Given the description of an element on the screen output the (x, y) to click on. 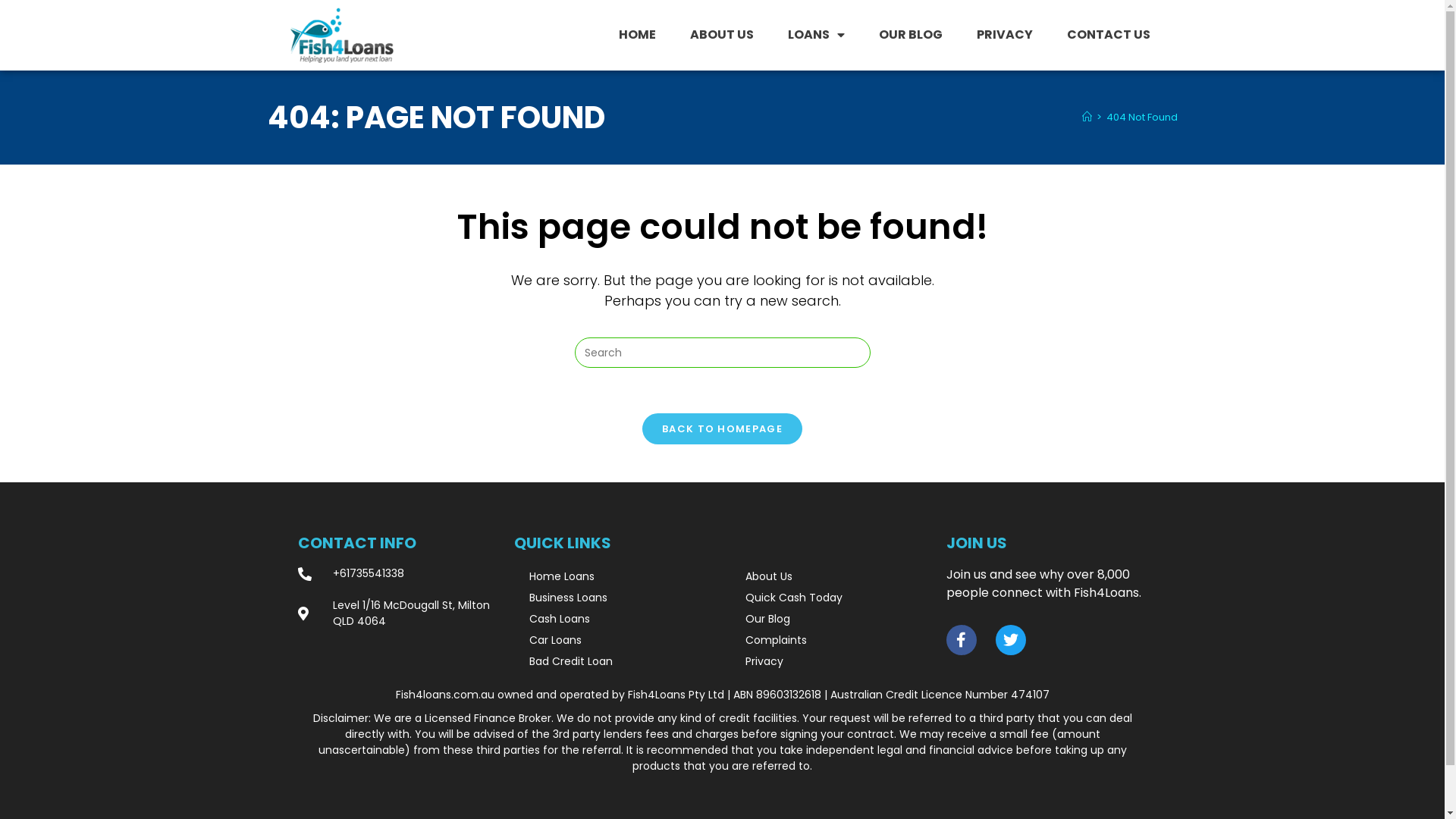
Quick Cash Today Element type: text (829, 597)
Car Loans Element type: text (614, 639)
Bad Credit Loan Element type: text (614, 660)
LOANS Element type: text (816, 34)
Privacy Element type: text (829, 660)
Business Loans Element type: text (614, 597)
OUR BLOG Element type: text (910, 34)
About Us Element type: text (829, 575)
CONTACT US Element type: text (1108, 34)
+61735541338 Element type: text (397, 573)
PRIVACY Element type: text (1004, 34)
ABOUT US Element type: text (721, 34)
Our Blog Element type: text (829, 618)
Cash Loans Element type: text (614, 618)
Complaints Element type: text (829, 639)
BACK TO HOMEPAGE Element type: text (722, 428)
Home Loans Element type: text (614, 575)
404 Not Found Element type: text (1140, 116)
HOME Element type: text (637, 34)
